Given the description of an element on the screen output the (x, y) to click on. 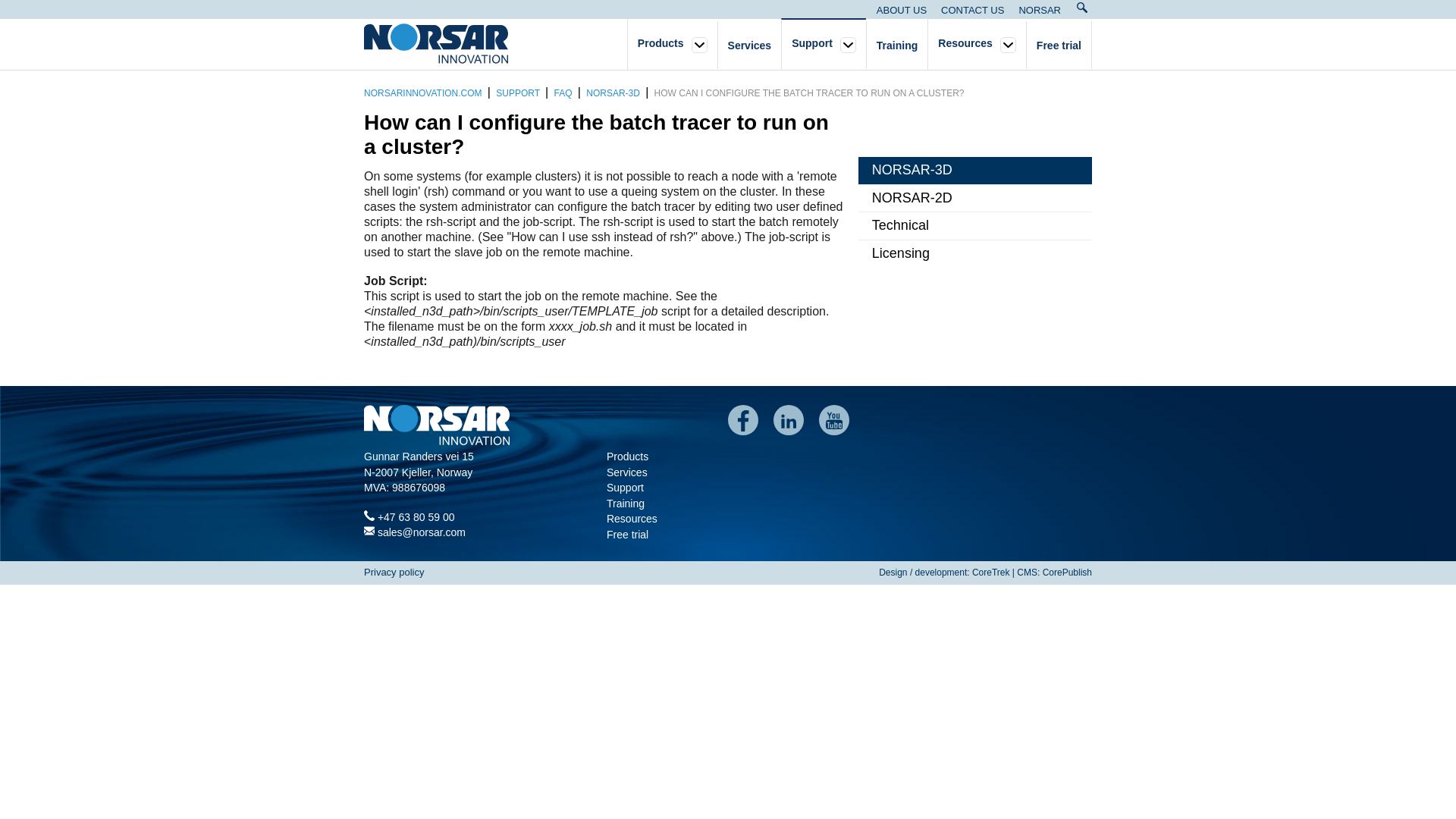
Services (749, 45)
Free trial (1058, 45)
Resources (964, 44)
CONTACT US (972, 9)
ABOUT US (901, 9)
Support (812, 44)
Products (660, 44)
Training (896, 45)
NORSAR (1039, 9)
